Given the description of an element on the screen output the (x, y) to click on. 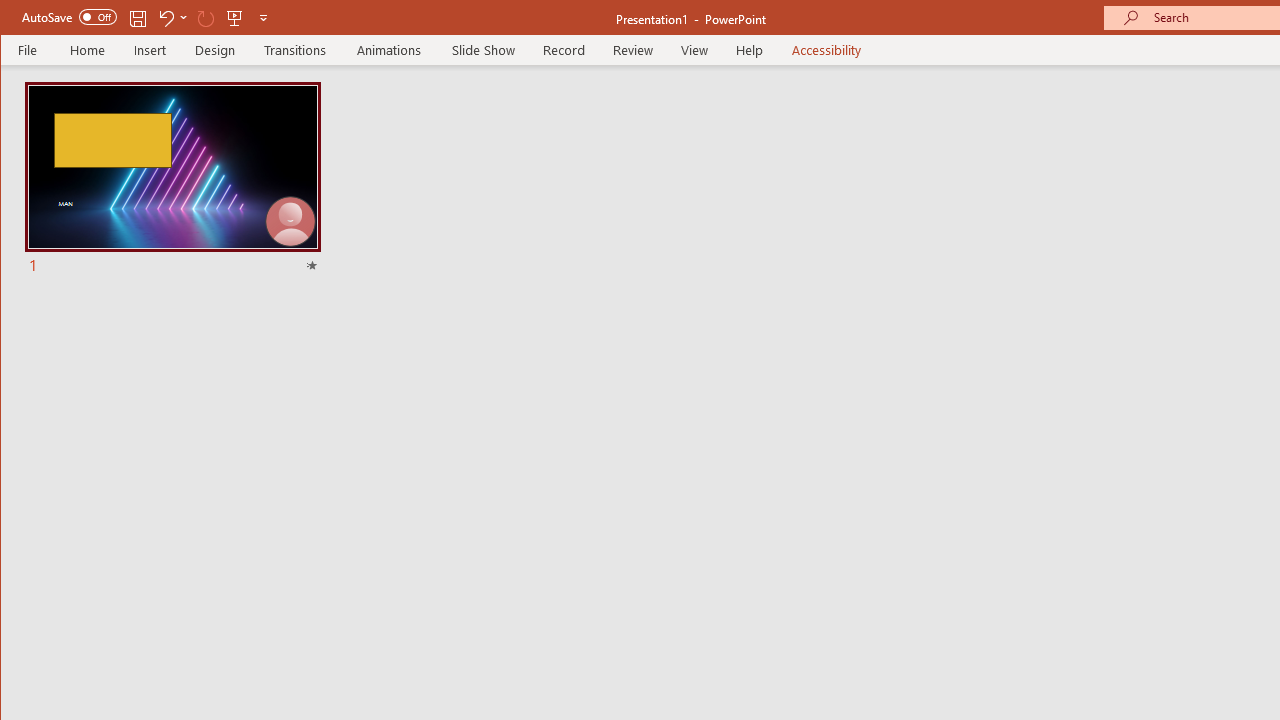
System (18, 18)
Review (632, 50)
From Beginning (235, 17)
Insert (150, 50)
Slide Show (482, 50)
Design (215, 50)
Undo (165, 17)
Record (563, 50)
Accessibility (826, 50)
View (694, 50)
